Given the description of an element on the screen output the (x, y) to click on. 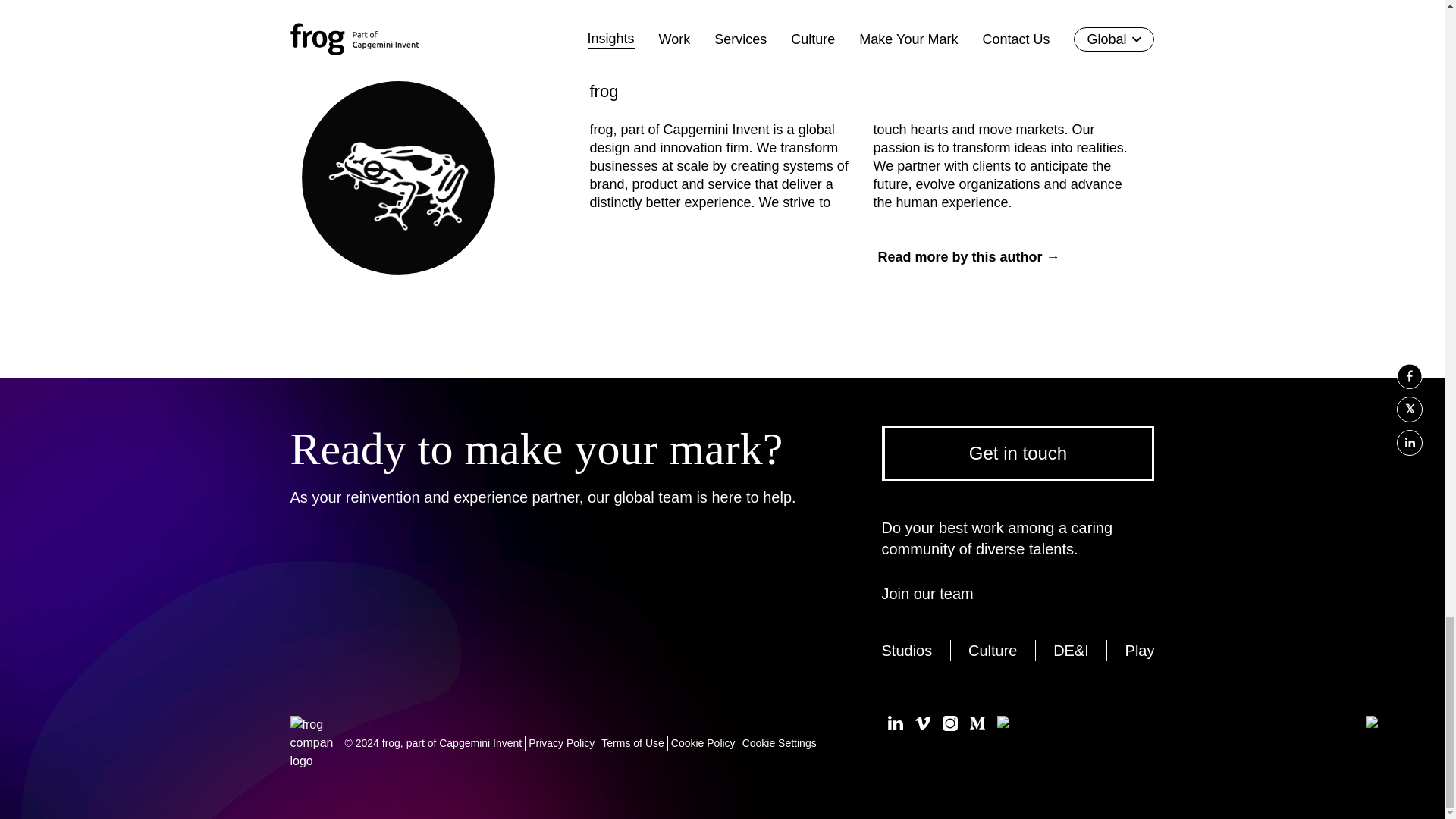
Culture (992, 649)
Studios (905, 649)
Join our team (932, 593)
Get in touch (1017, 452)
